Given the description of an element on the screen output the (x, y) to click on. 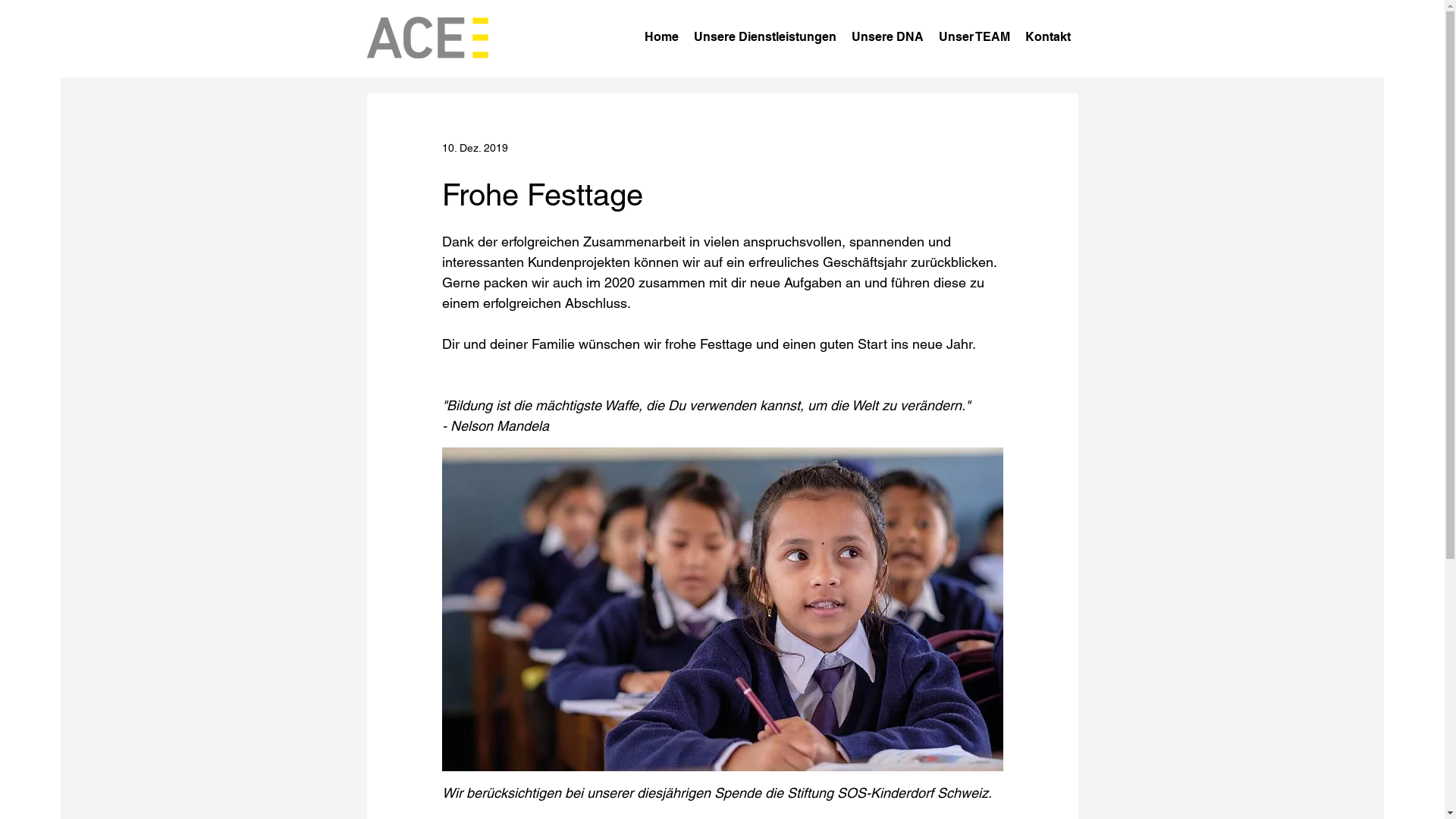
Unsere DNA Element type: text (886, 36)
Unser TEAM Element type: text (974, 36)
Home Element type: text (661, 36)
Kontakt Element type: text (1047, 36)
